Given the description of an element on the screen output the (x, y) to click on. 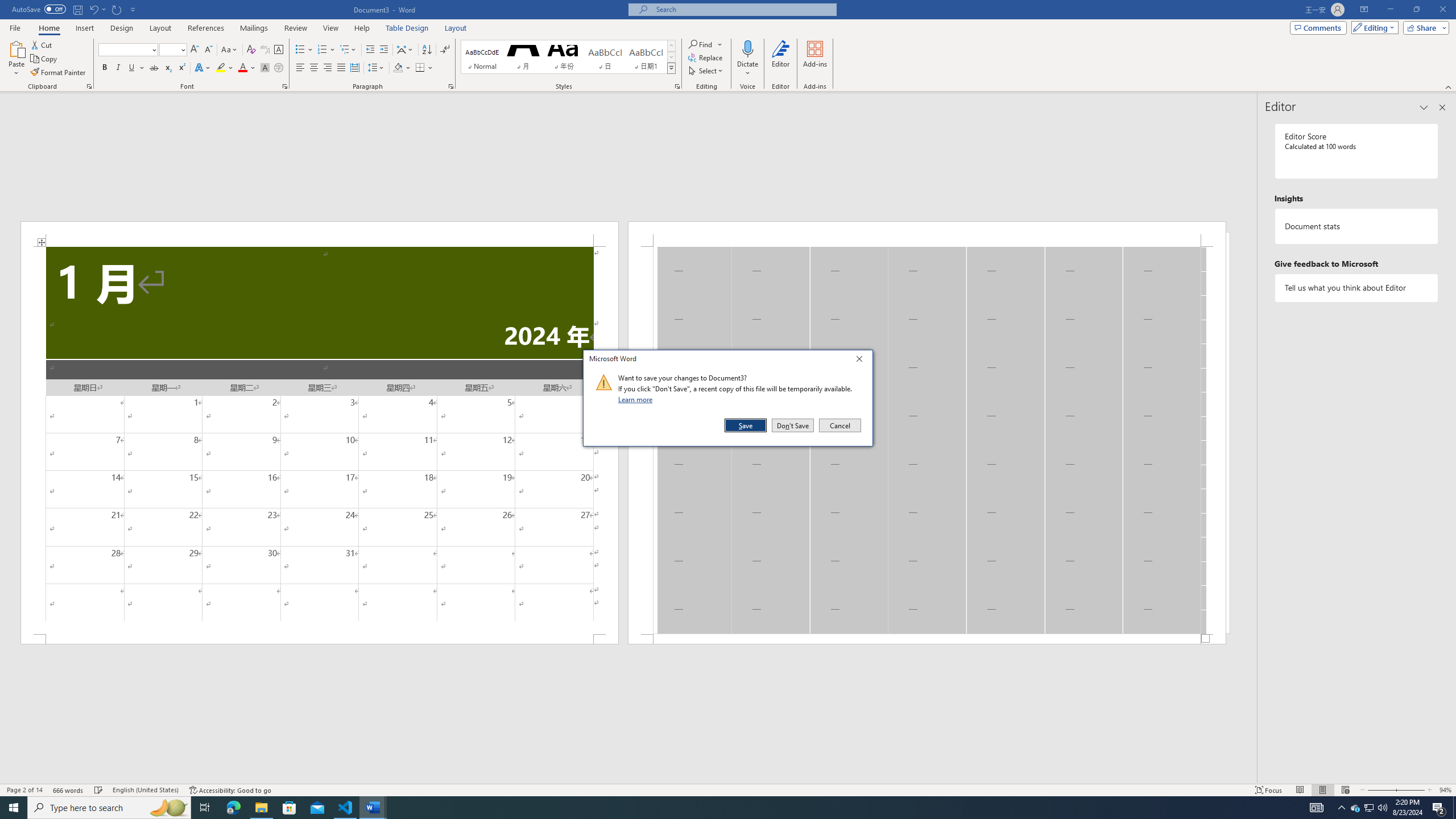
Font Color RGB(255, 0, 0) (241, 67)
